Given the description of an element on the screen output the (x, y) to click on. 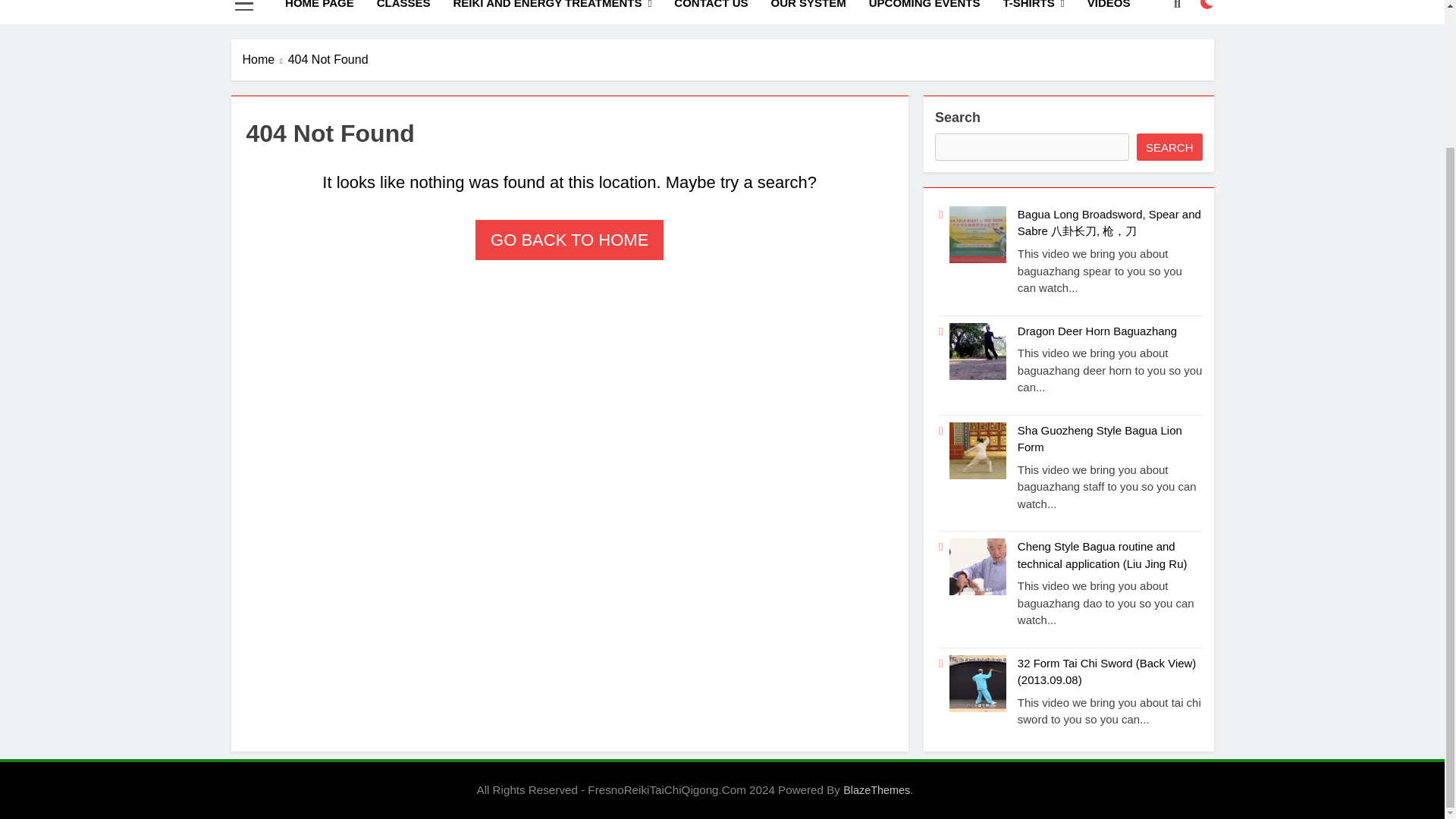
SEARCH (1169, 146)
Home (265, 59)
CLASSES (403, 11)
HOME PAGE (319, 11)
T-SHIRTS (1033, 12)
Sha Guozheng Style Bagua Lion Form (1099, 438)
REIKI AND ENERGY TREATMENTS (552, 12)
UPCOMING EVENTS (924, 11)
GO BACK TO HOME (569, 240)
on (1206, 4)
CONTACT US (710, 11)
OUR SYSTEM (808, 11)
Dragon Deer Horn Baguazhang (1096, 330)
VIDEOS (1108, 11)
